Given the description of an element on the screen output the (x, y) to click on. 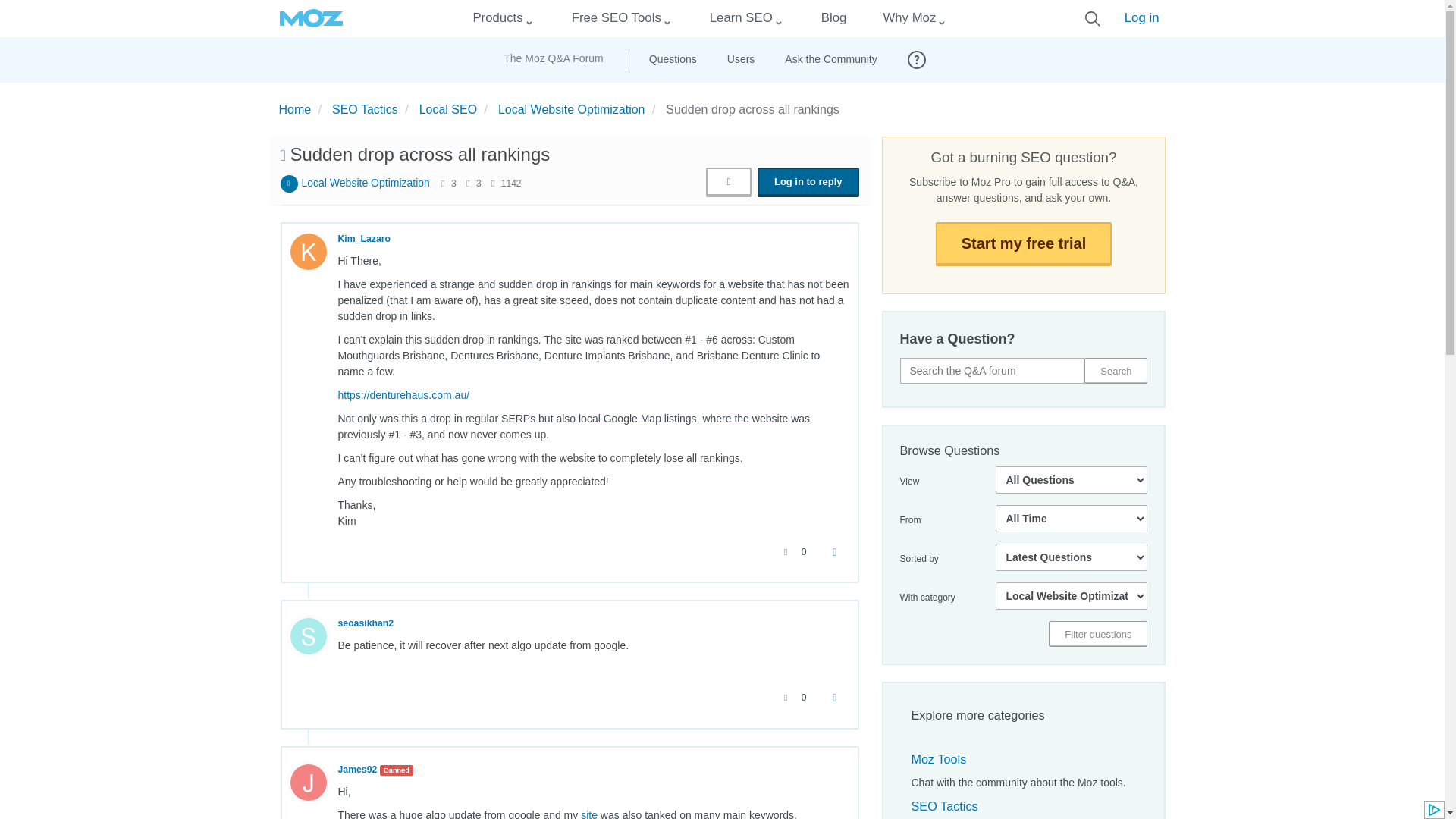
Moz Home (311, 18)
Moz logo (311, 18)
Products (496, 18)
Filter questions (1097, 633)
Moz logo (311, 18)
Search (1115, 370)
